Given the description of an element on the screen output the (x, y) to click on. 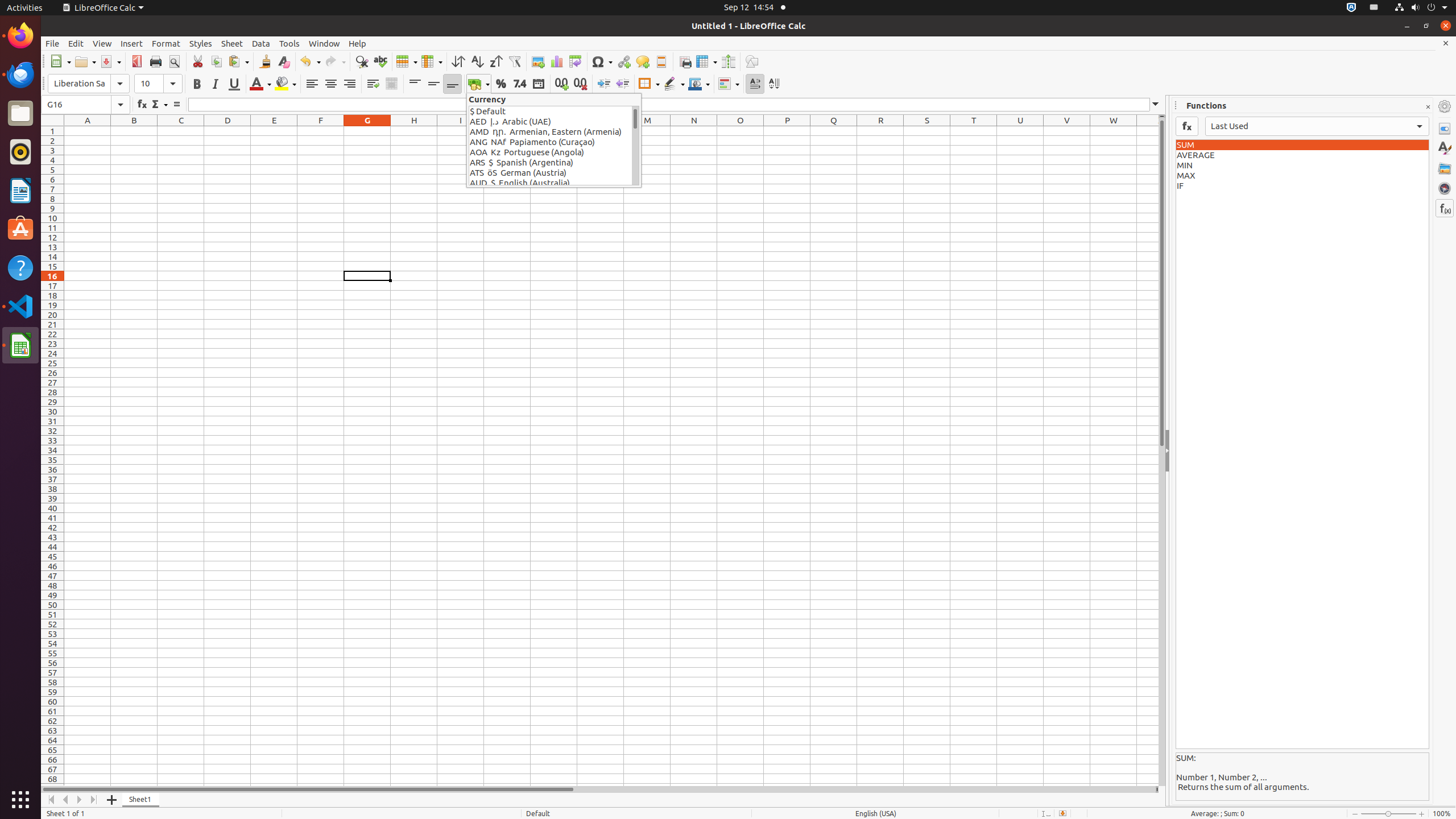
LibreOffice Calc Element type: push-button (20, 344)
Files Element type: push-button (20, 113)
Expand Formula Bar Element type: push-button (1155, 104)
Vertical scroll bar Element type: scroll-bar (1161, 451)
Merge and Center Cells Element type: push-button (391, 83)
